Given the description of an element on the screen output the (x, y) to click on. 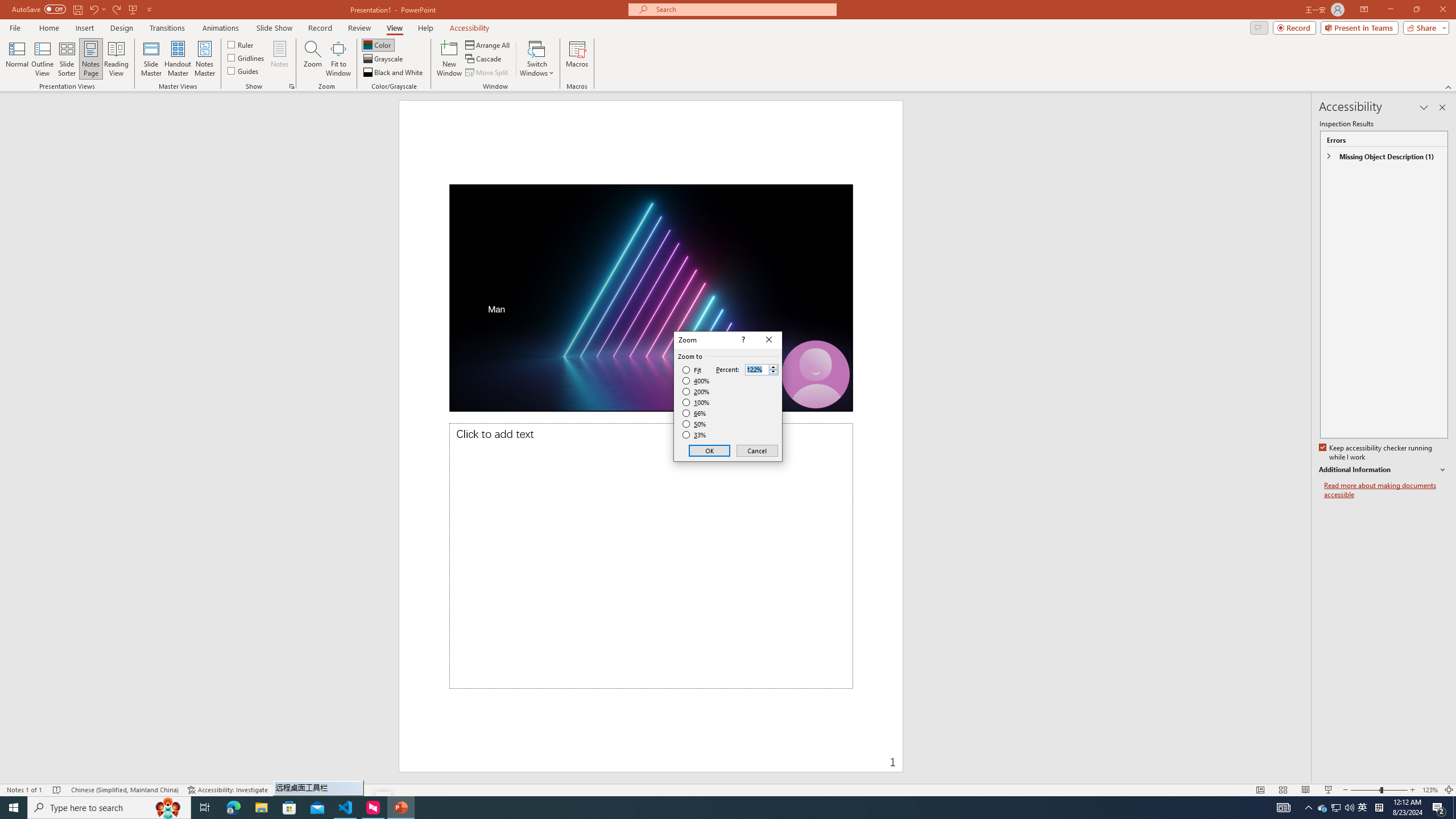
Handout Master (177, 58)
Move Split (1322, 807)
